Given the description of an element on the screen output the (x, y) to click on. 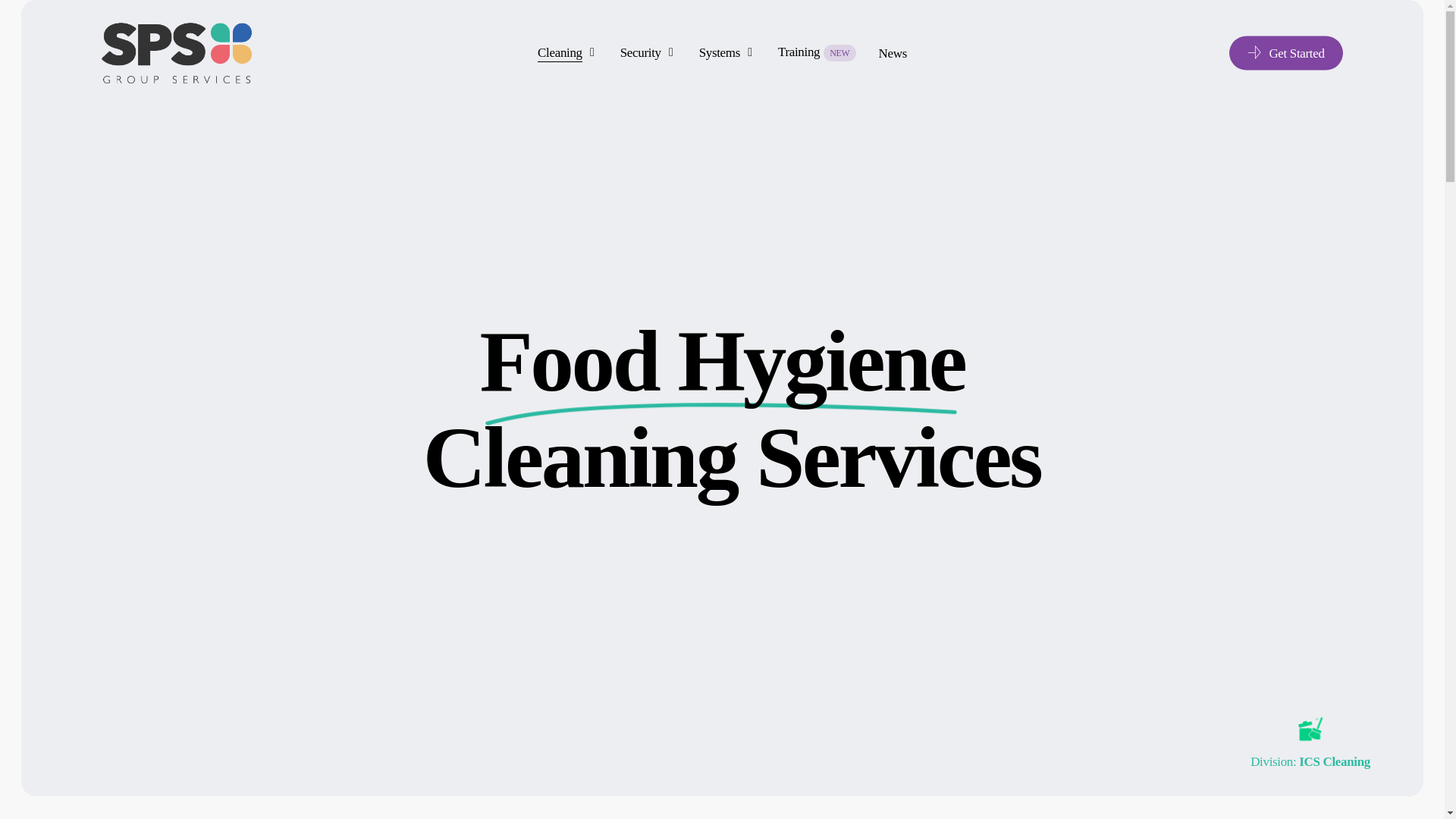
Security (648, 52)
Cleaning (566, 52)
Systems (726, 52)
